Given the description of an element on the screen output the (x, y) to click on. 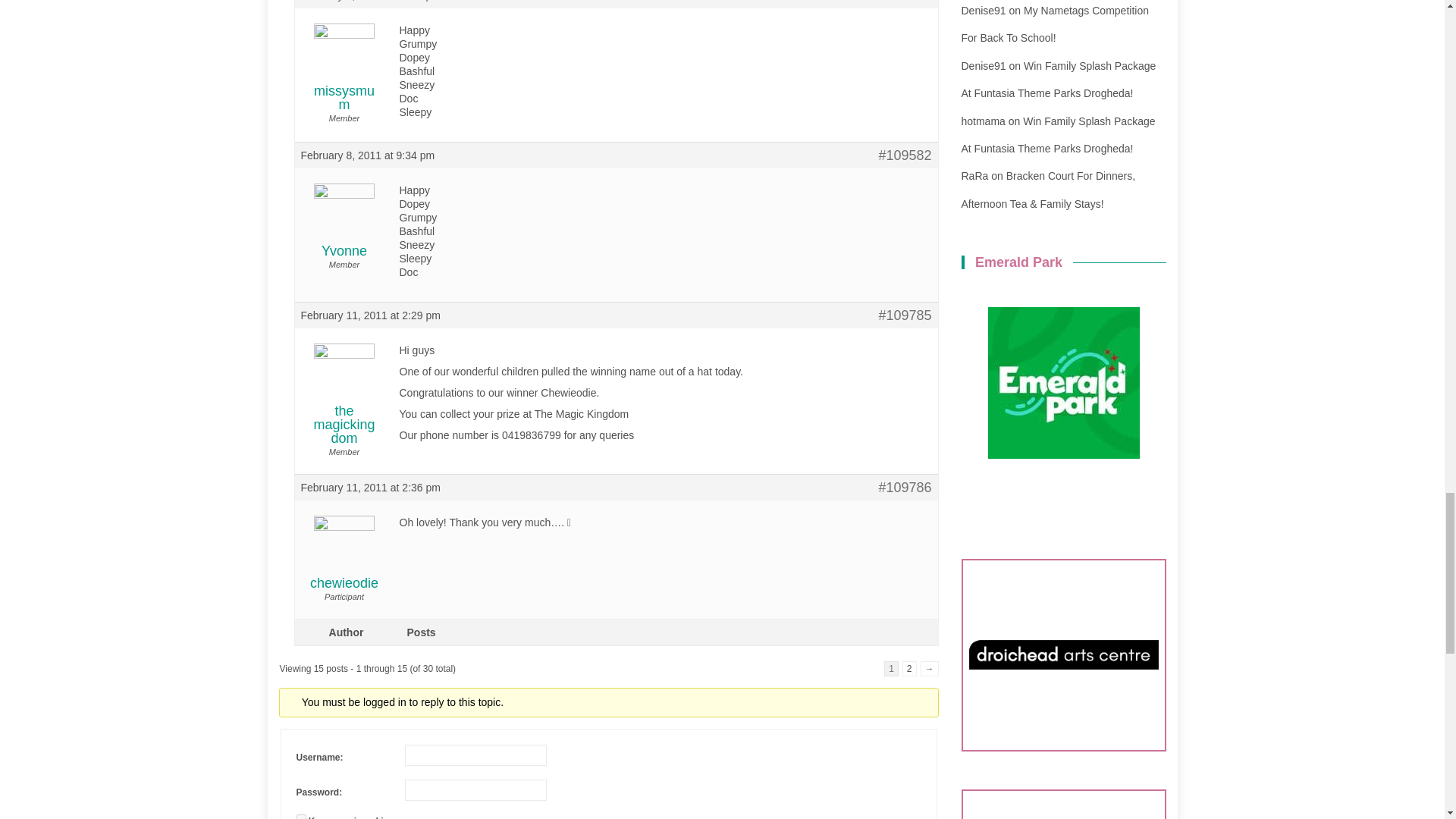
forever (300, 816)
